Given the description of an element on the screen output the (x, y) to click on. 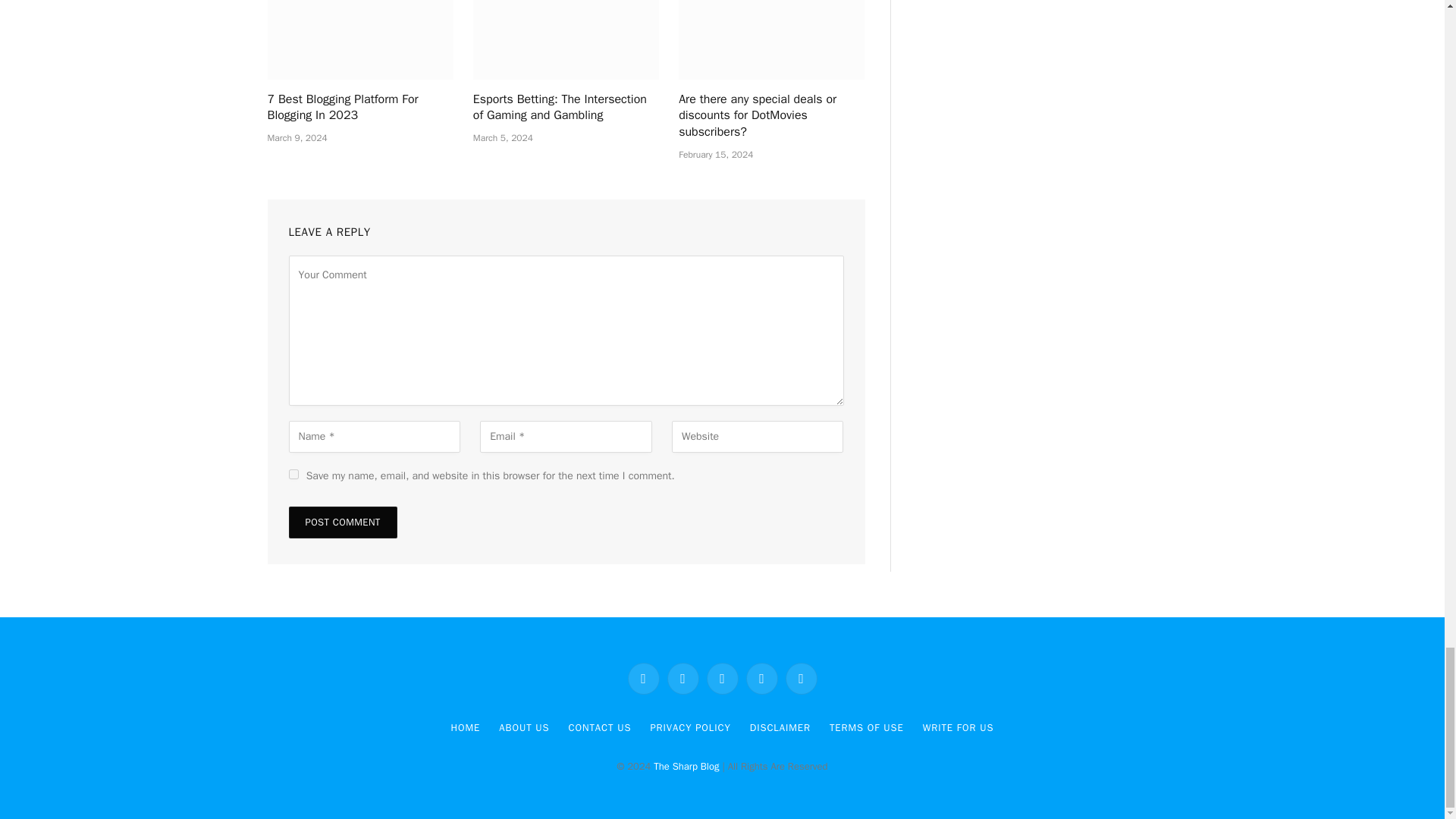
yes (293, 474)
Post Comment (342, 522)
